Given the description of an element on the screen output the (x, y) to click on. 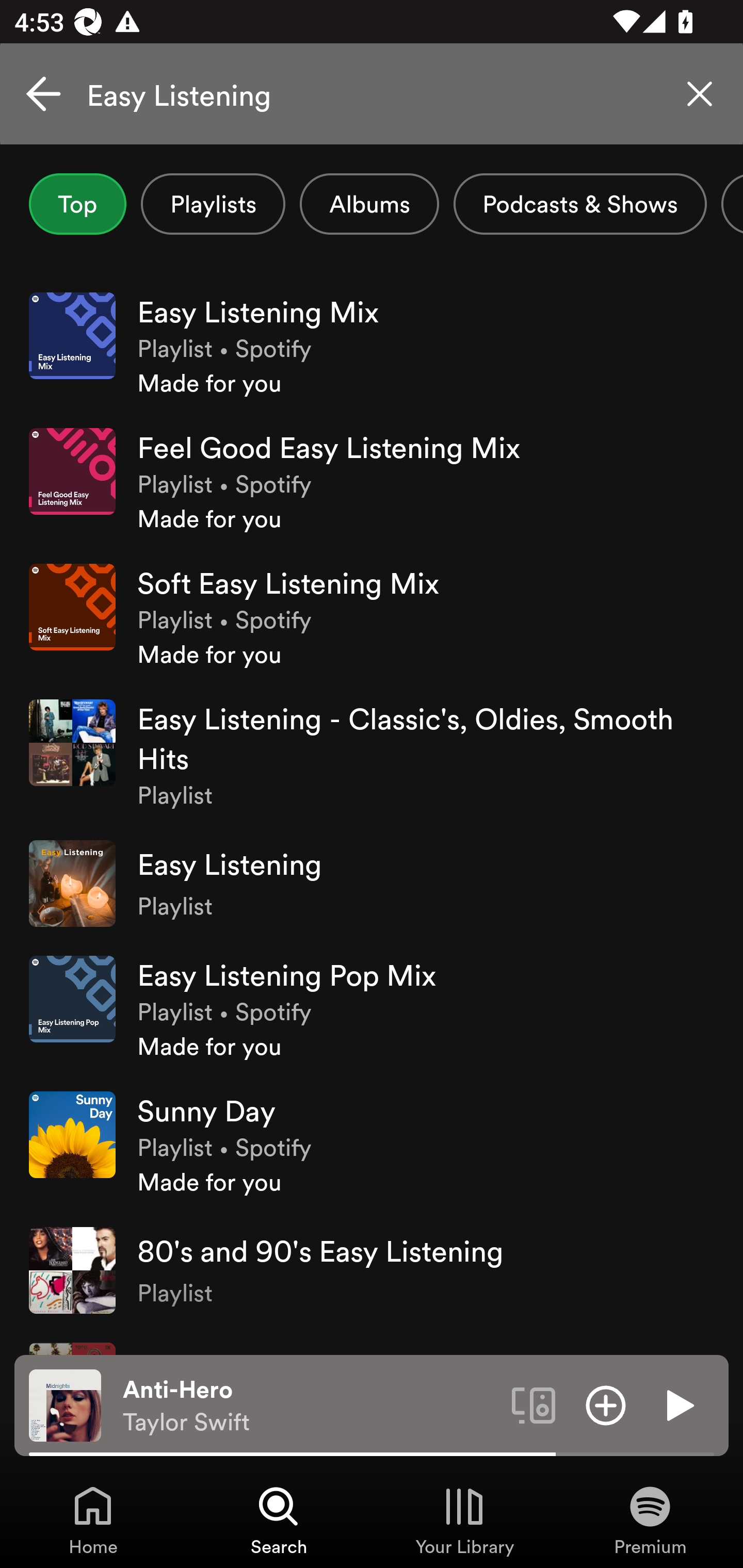
Easy Listening (371, 93)
Cancel (43, 93)
Clear search query (699, 93)
Top (77, 203)
Playlists (213, 203)
Albums (369, 203)
Podcasts & Shows (579, 203)
Easy Listening Mix Playlist • Spotify Made for you (371, 345)
Easy Listening  Playlist (371, 883)
Sunny Day Playlist • Spotify Made for you (371, 1144)
80's and 90's Easy Listening Playlist (371, 1270)
Anti-Hero Taylor Swift (309, 1405)
The cover art of the currently playing track (64, 1404)
Connect to a device. Opens the devices menu (533, 1404)
Add item (605, 1404)
Play (677, 1404)
Home, Tab 1 of 4 Home Home (92, 1519)
Search, Tab 2 of 4 Search Search (278, 1519)
Your Library, Tab 3 of 4 Your Library Your Library (464, 1519)
Premium, Tab 4 of 4 Premium Premium (650, 1519)
